Given the description of an element on the screen output the (x, y) to click on. 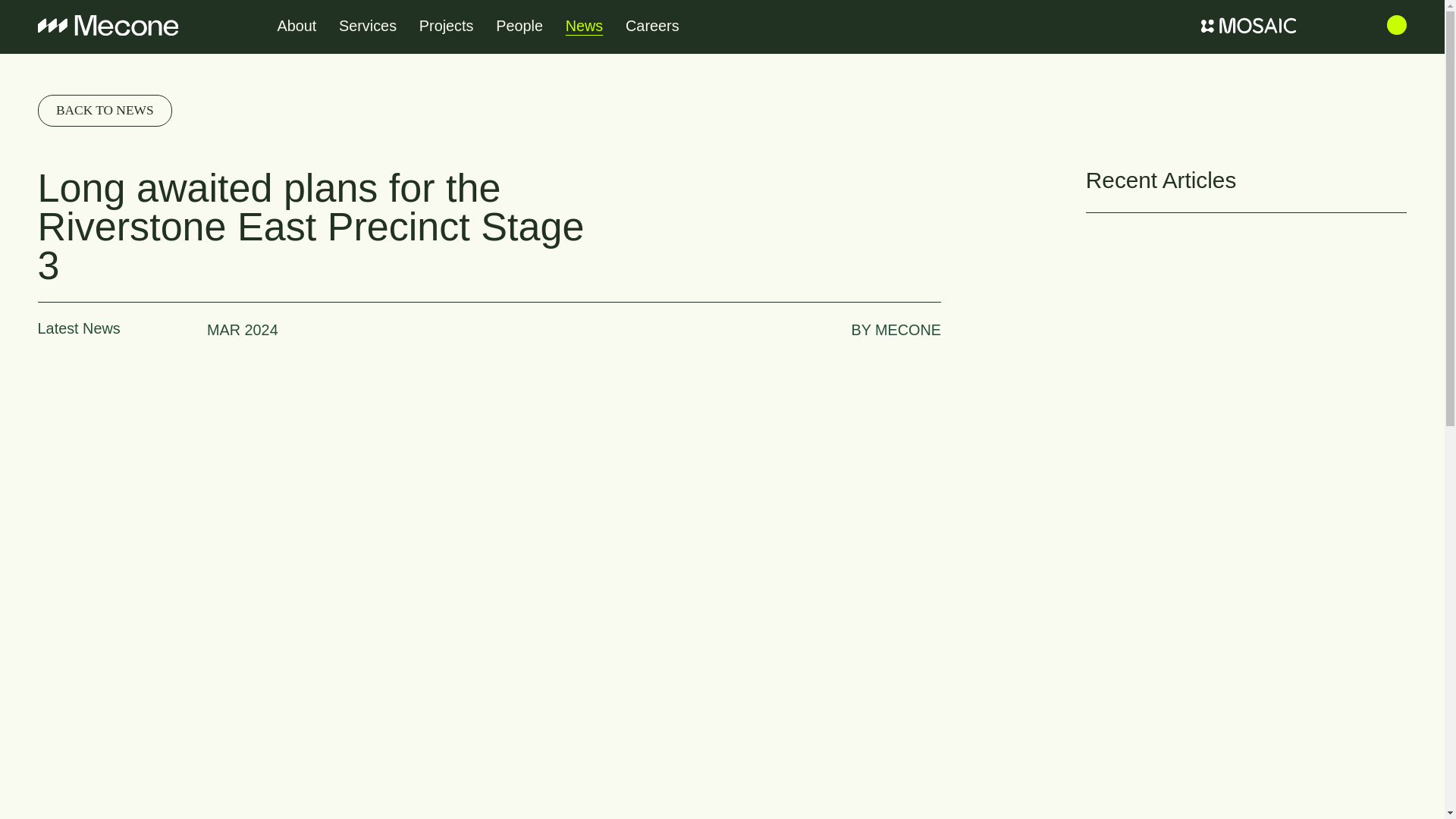
Projects (445, 26)
BACK TO NEWS (104, 110)
News (584, 26)
About (297, 26)
Careers (652, 26)
Services (367, 26)
People (519, 26)
